Given the description of an element on the screen output the (x, y) to click on. 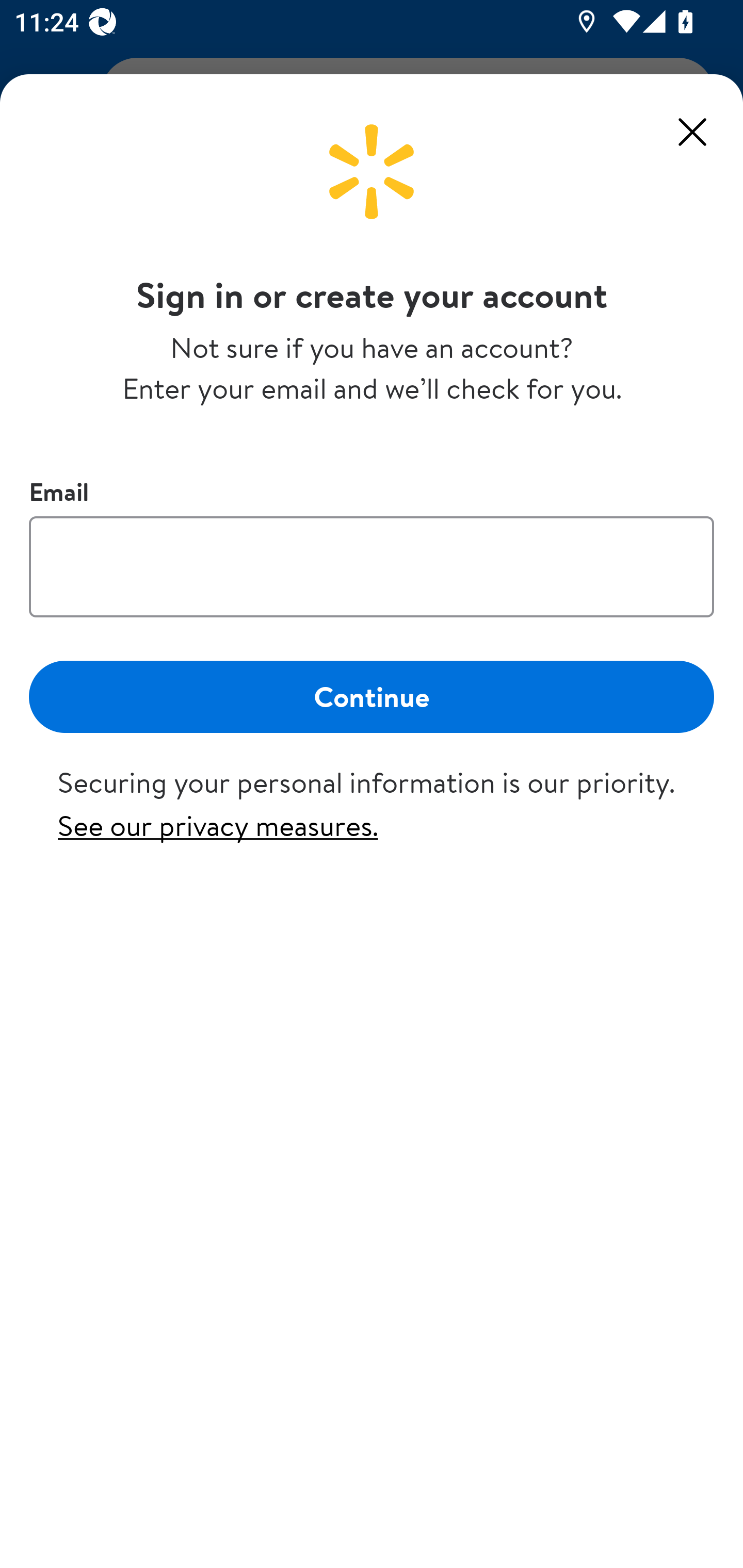
Close (692, 131)
Email (371, 566)
Continue (371, 696)
